Given the description of an element on the screen output the (x, y) to click on. 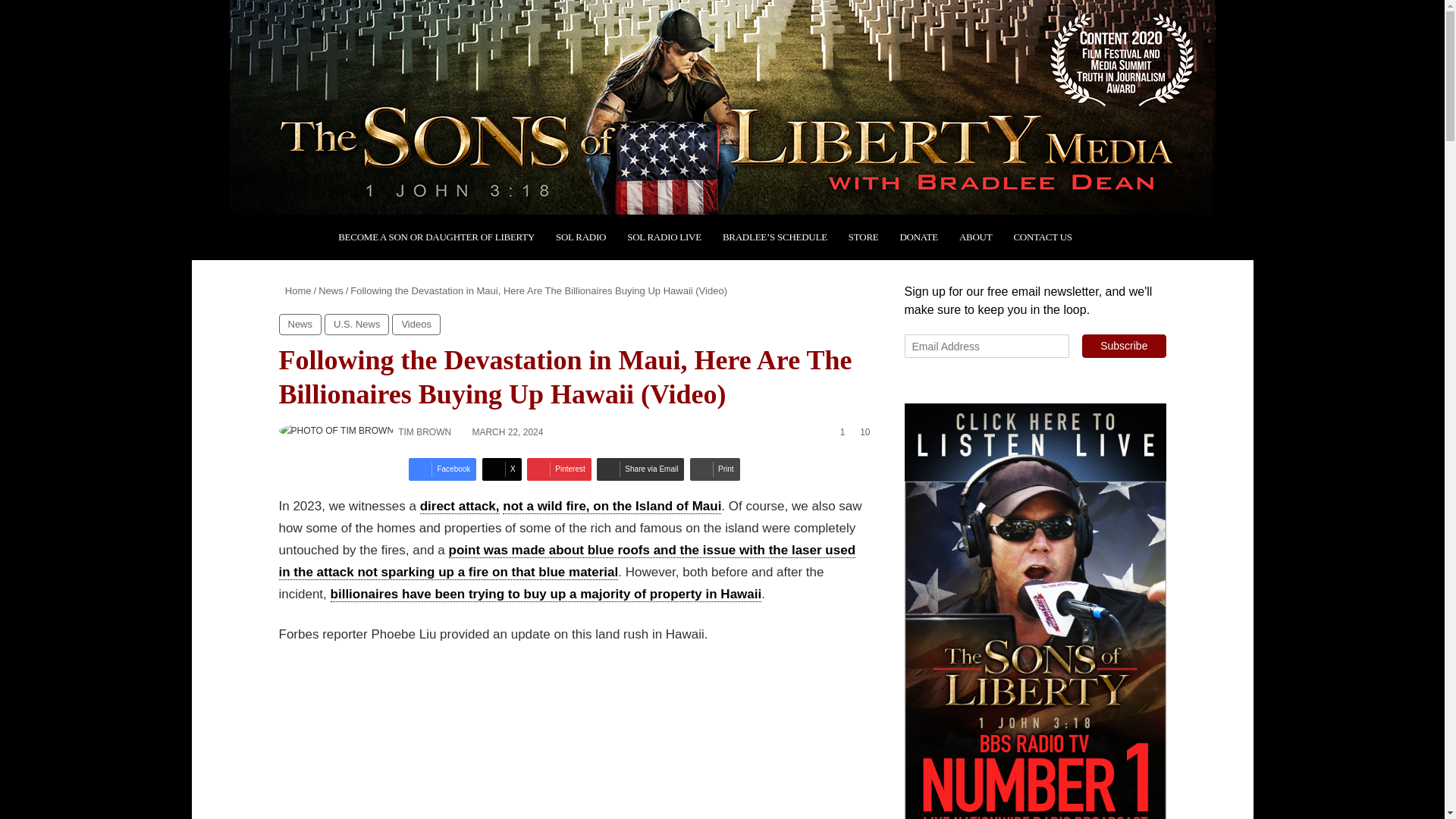
ABOUT (976, 237)
News (330, 290)
TIM BROWN (424, 431)
direct attack, (459, 506)
SOL RADIO (579, 237)
These Are The Billionaires Buying Hawaii (521, 742)
Share via Email (640, 468)
CONTACT US (1042, 237)
X (501, 468)
not a wild fire, on the Island of Maui (611, 506)
Pinterest (559, 468)
SOL RADIO LIVE (663, 237)
Print (714, 468)
U.S. News (356, 323)
